Given the description of an element on the screen output the (x, y) to click on. 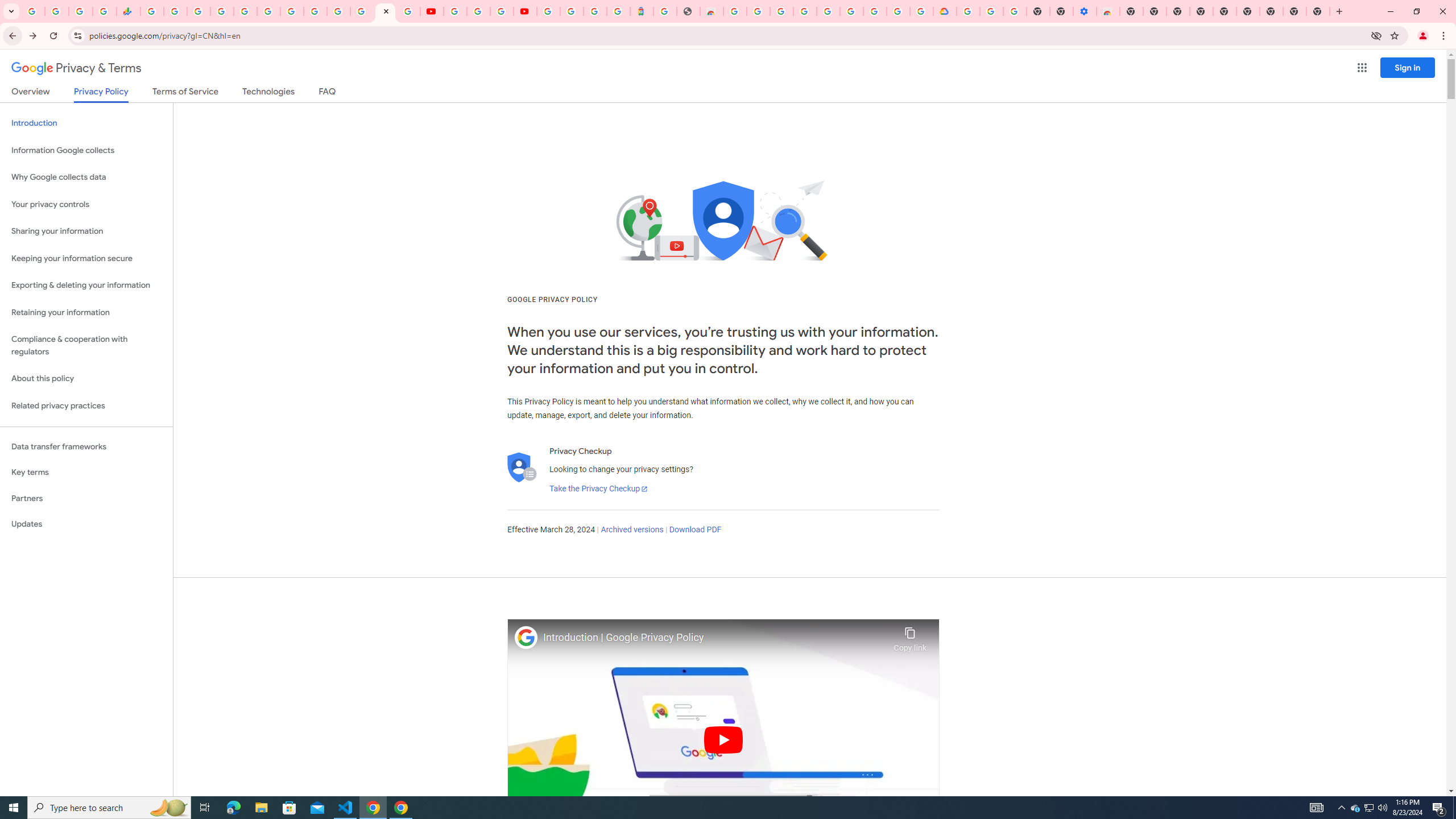
Copy link (909, 636)
Keeping your information secure (86, 258)
